Given the description of an element on the screen output the (x, y) to click on. 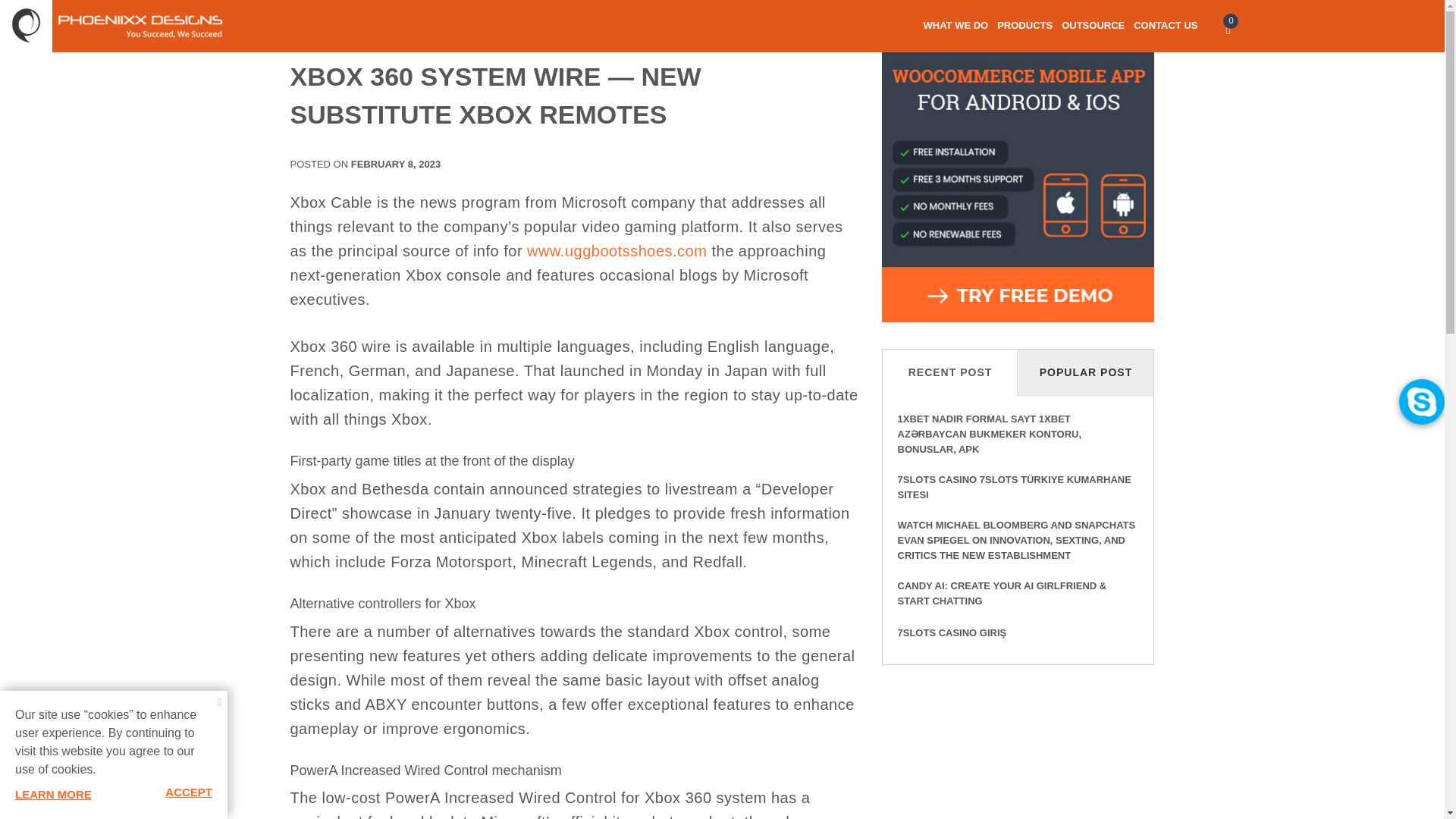
Phoeniixx (26, 60)
CONTACT US (1165, 32)
OUTSOURCE (1092, 32)
FEBRUARY 8, 2023 (395, 163)
WHAT WE DO (955, 32)
PRODUCTS (1024, 32)
www.uggbootsshoes.com (616, 250)
